Given the description of an element on the screen output the (x, y) to click on. 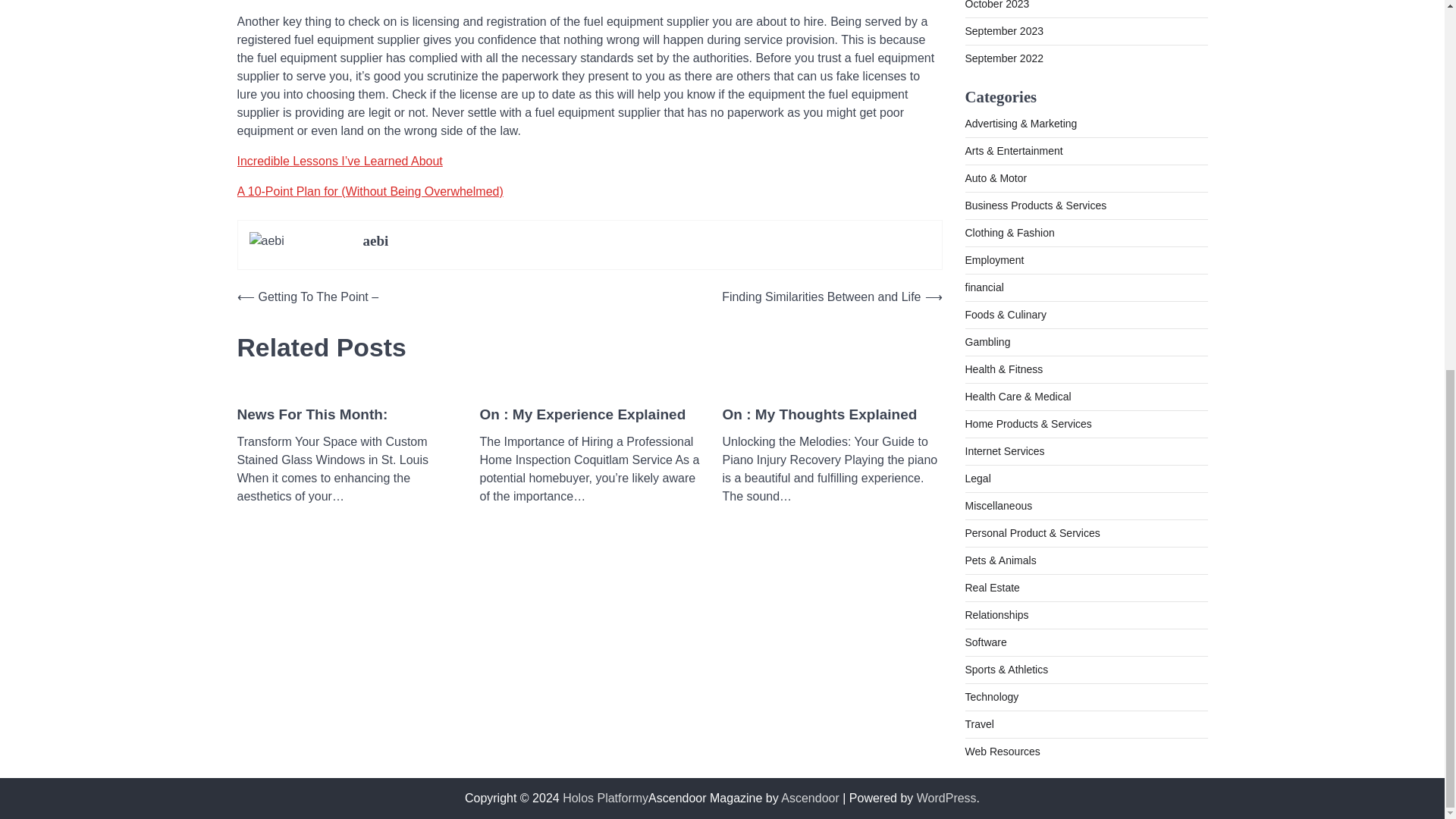
September 2023 (1003, 30)
On : My Thoughts Explained (819, 414)
September 2022 (1003, 58)
On : My Experience Explained (582, 414)
October 2023 (996, 4)
Employment (993, 259)
News For This Month: (311, 414)
